Given the description of an element on the screen output the (x, y) to click on. 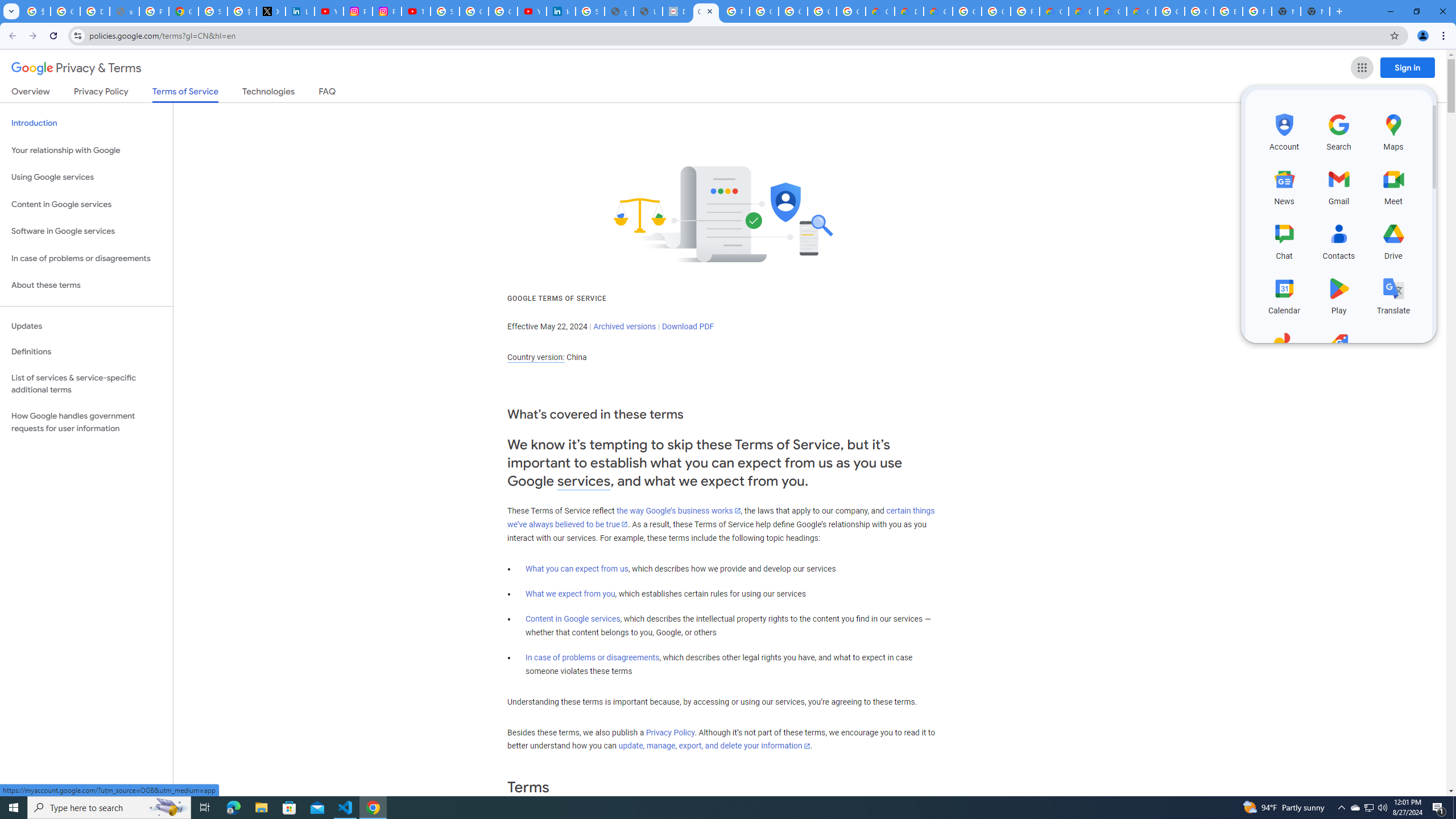
FAQ (327, 93)
Chrome (1445, 35)
Google Cloud Pricing Calculator (1111, 11)
New Tab (1315, 11)
Overview (30, 93)
services (583, 480)
Close (709, 11)
Terms of Service (184, 94)
Customer Care | Google Cloud (879, 11)
About these terms (86, 284)
Updates (86, 325)
User Details (648, 11)
